Given the description of an element on the screen output the (x, y) to click on. 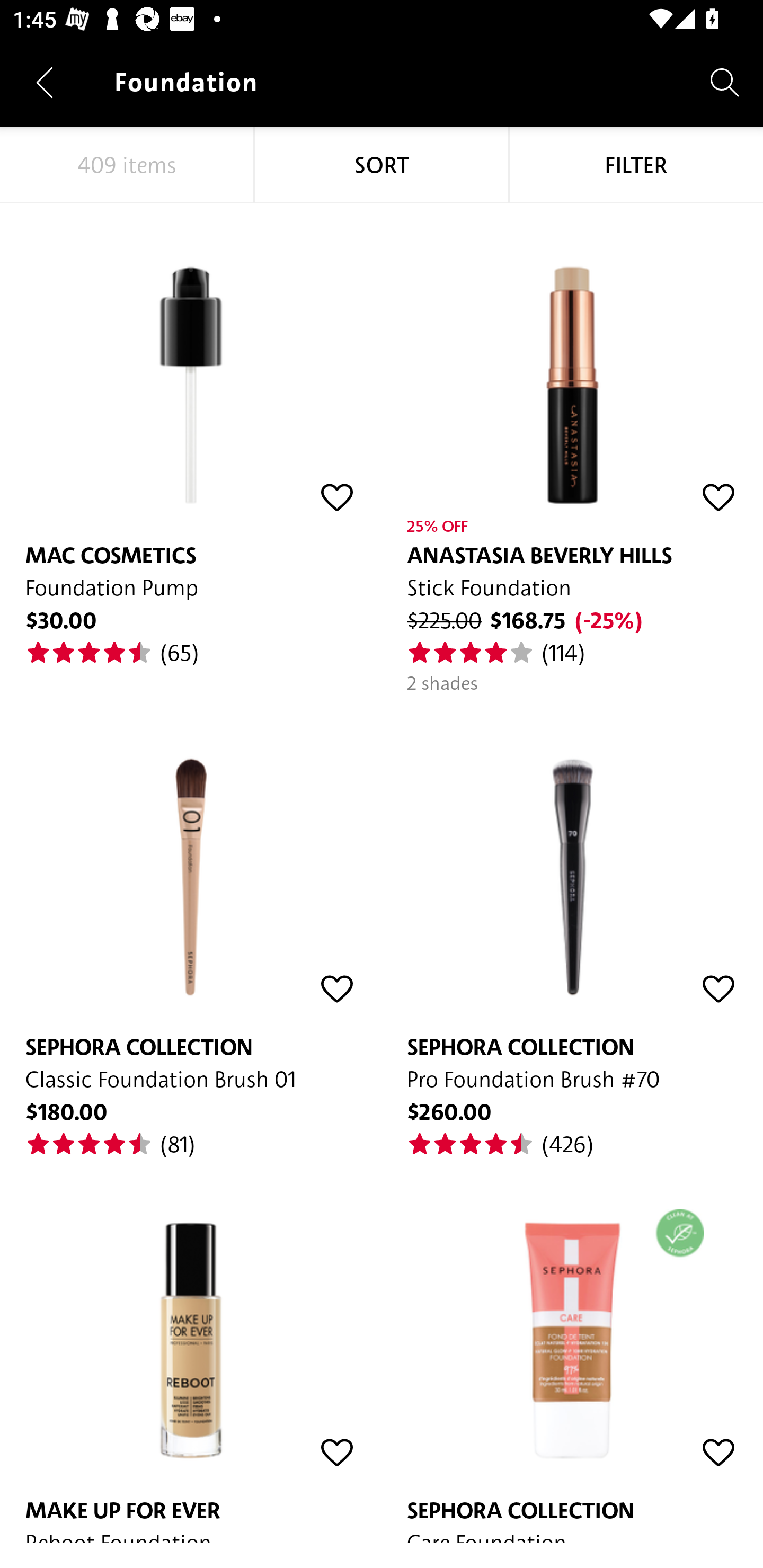
Navigate up (44, 82)
Search (724, 81)
SORT (381, 165)
FILTER (636, 165)
MAC COSMETICS Foundation Pump $30.00 (65) (190, 434)
MAKE UP FOR EVER Reboot Foundation $430.00 (190, 1350)
SEPHORA COLLECTION Care Foundation $175.00 (571, 1350)
